Given the description of an element on the screen output the (x, y) to click on. 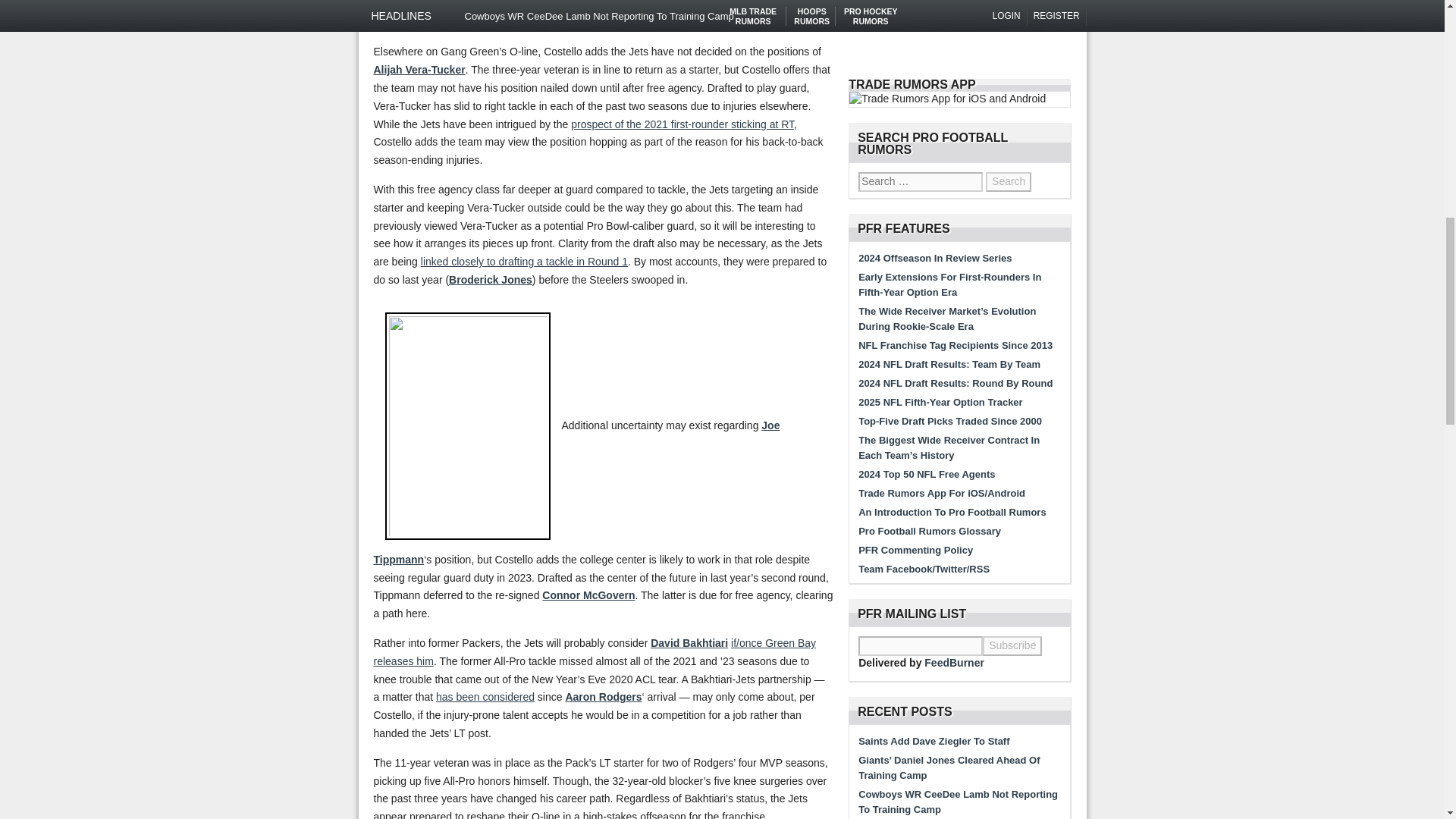
Search (1007, 181)
Subscribe (1012, 646)
Search for: (920, 181)
